Given the description of an element on the screen output the (x, y) to click on. 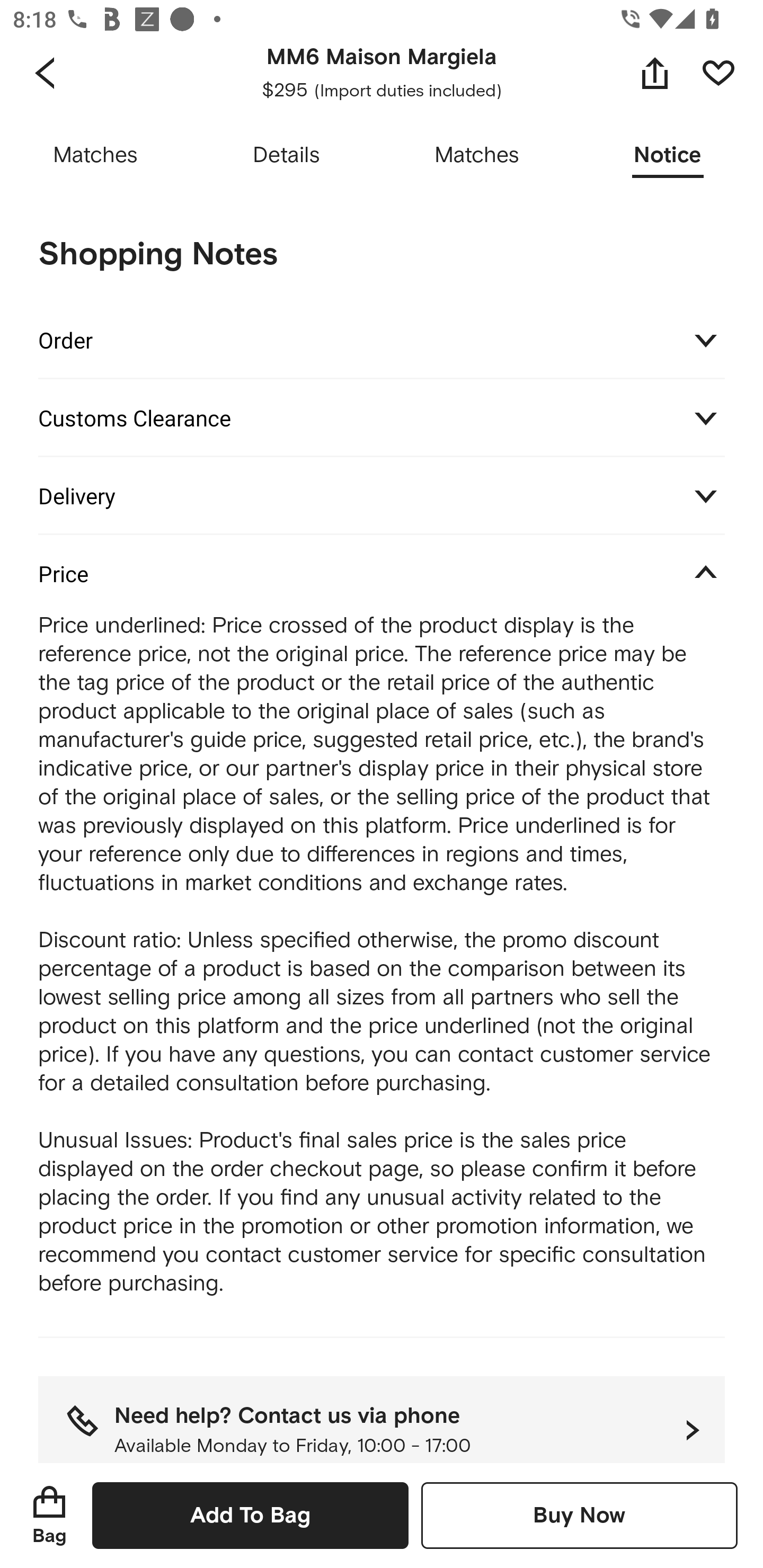
Matches (95, 155)
Details (285, 155)
Matches (476, 155)
Order (381, 339)
Customs Clearance (381, 417)
Delivery (381, 495)
Price (381, 572)
Bag (49, 1515)
Add To Bag (250, 1515)
Buy Now (579, 1515)
